Given the description of an element on the screen output the (x, y) to click on. 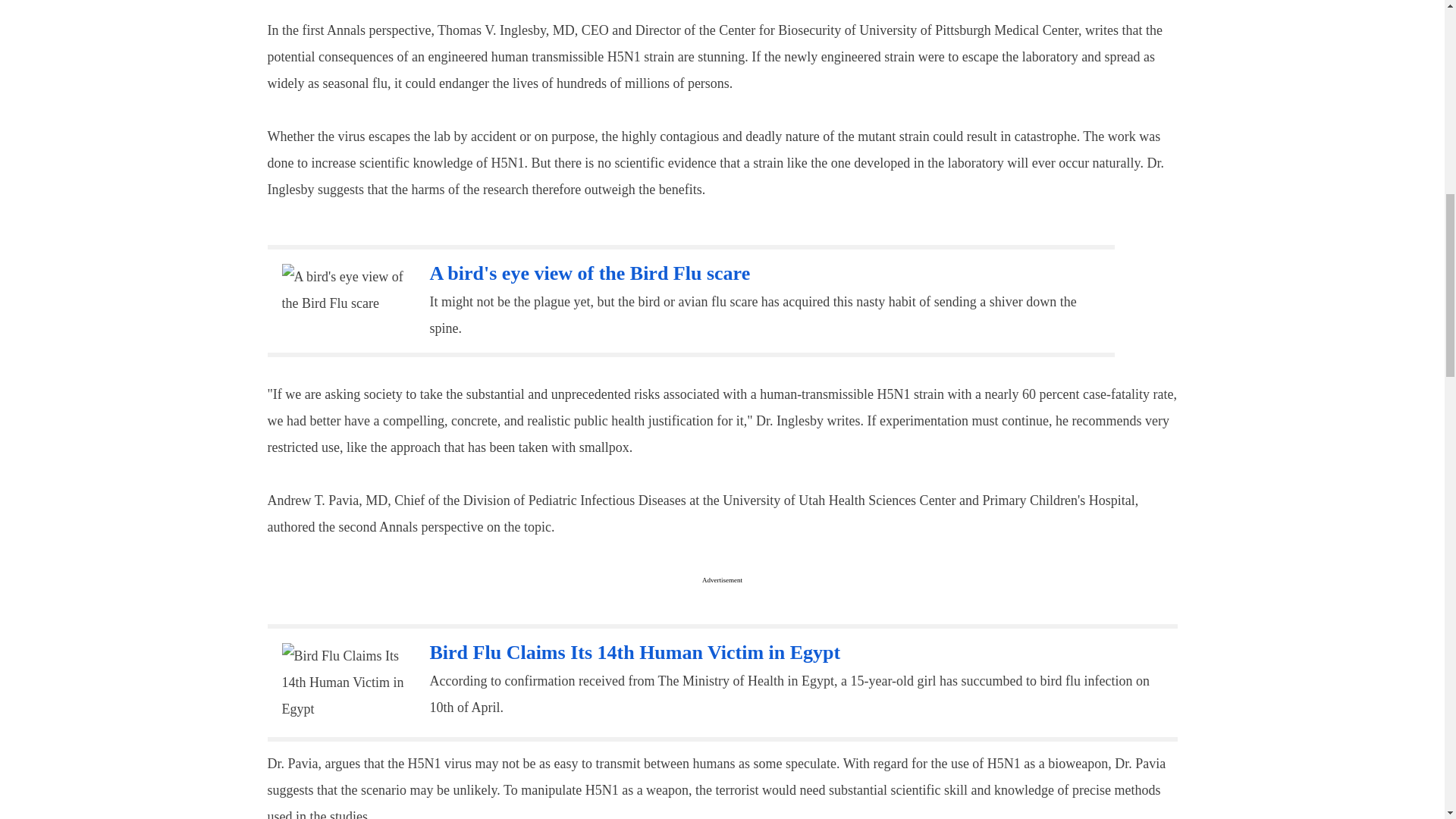
Bird Flu Claims Its 14th Human Victim in Egypt (634, 652)
Bird Flu Claims Its 14th Human Victim in Egypt (634, 652)
A bird's eye view of the Bird Flu scare (344, 289)
A bird's eye view of the Bird Flu scare (589, 273)
Bird Flu Claims Its 14th Human Victim in Egypt (344, 682)
A bird's eye view of the Bird Flu scare (589, 273)
